Given the description of an element on the screen output the (x, y) to click on. 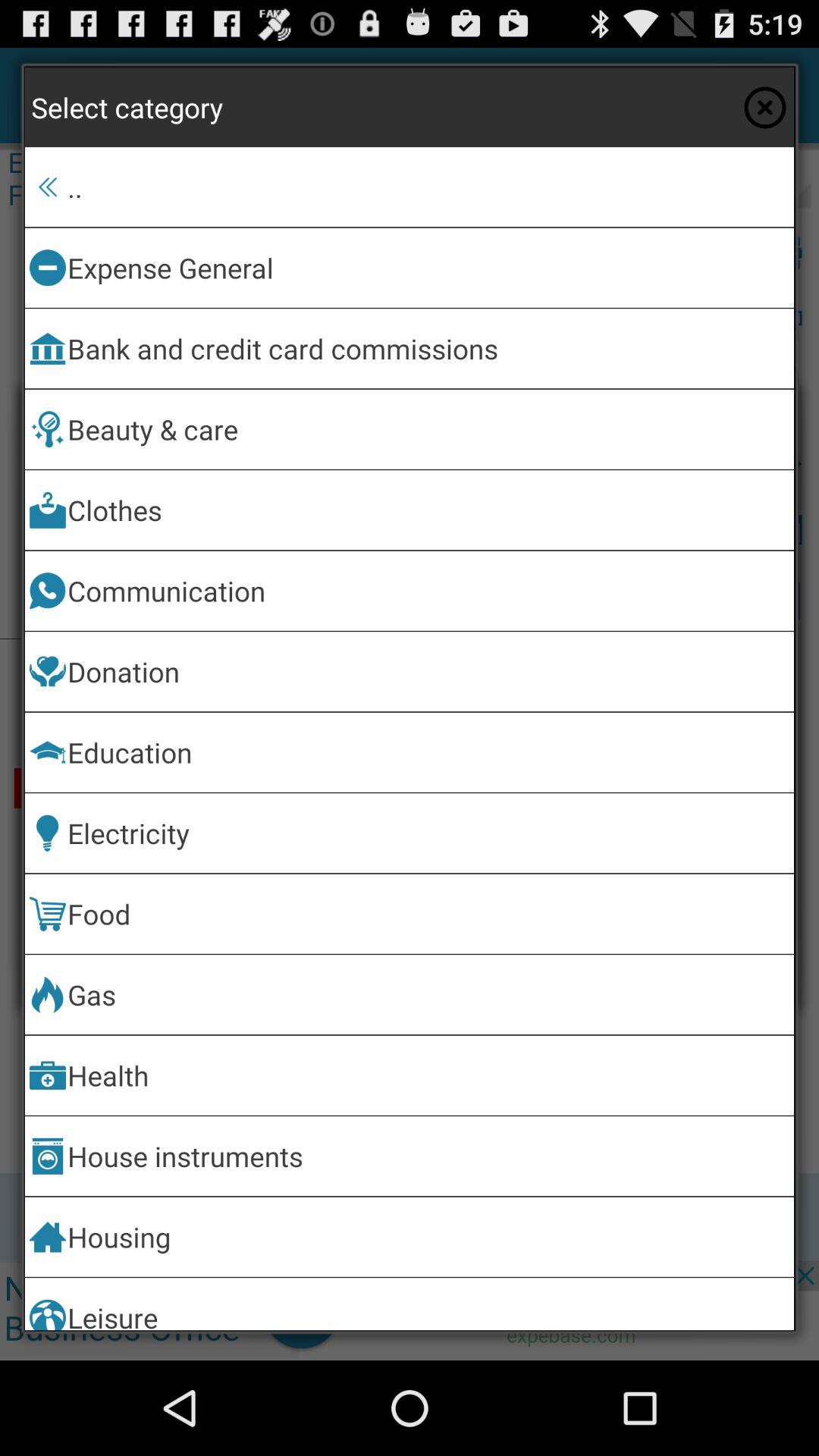
tap the .. item (427, 186)
